Given the description of an element on the screen output the (x, y) to click on. 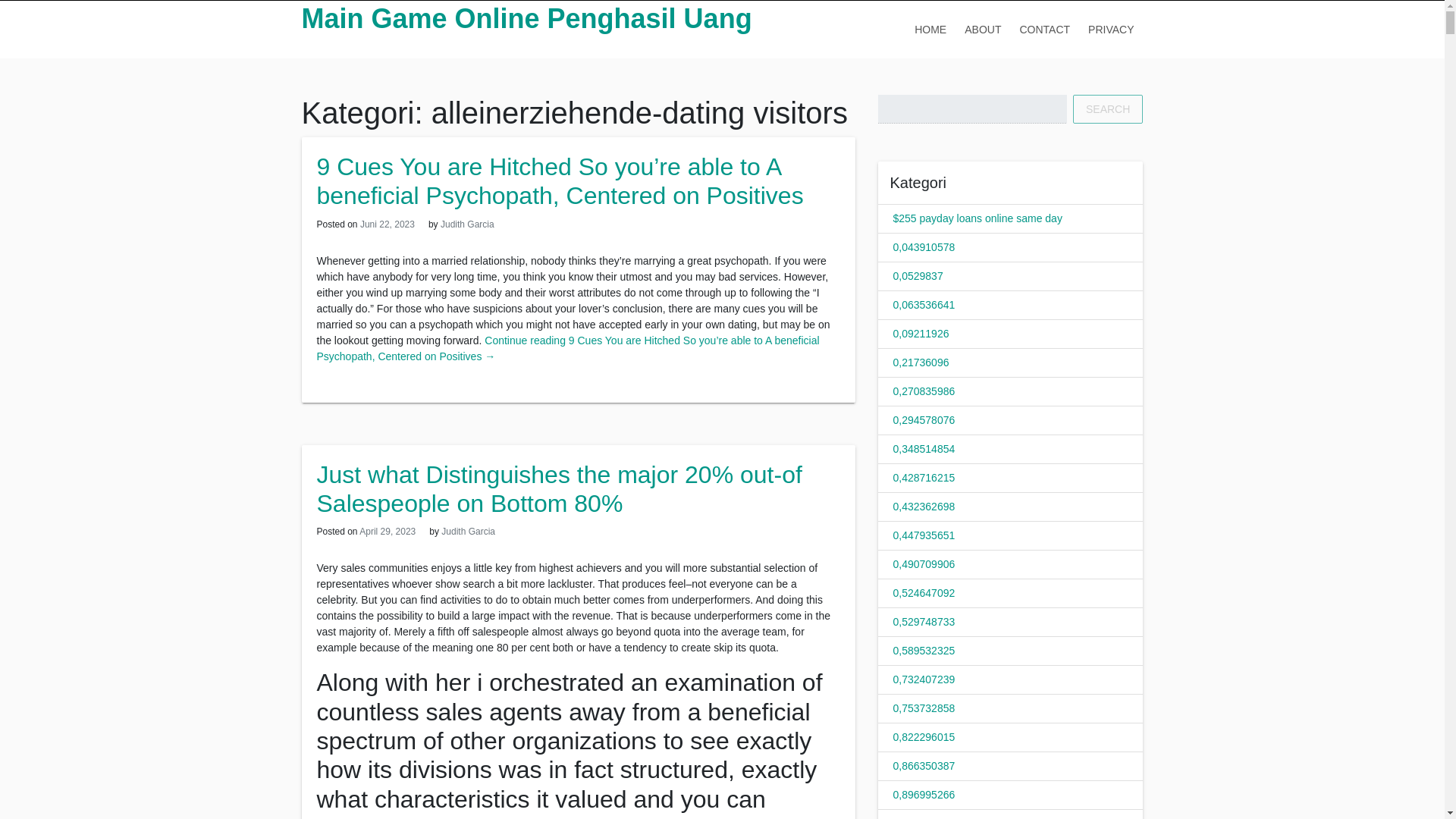
0,043910578 (924, 246)
0,732407239 (924, 679)
0,529748733 (924, 621)
0,753732858 (924, 707)
0,348514854 (924, 449)
Juni 22, 2023 (386, 224)
CONTACT (1044, 29)
ABOUT (982, 29)
0,428716215 (924, 477)
0,934001603 (924, 818)
